Given the description of an element on the screen output the (x, y) to click on. 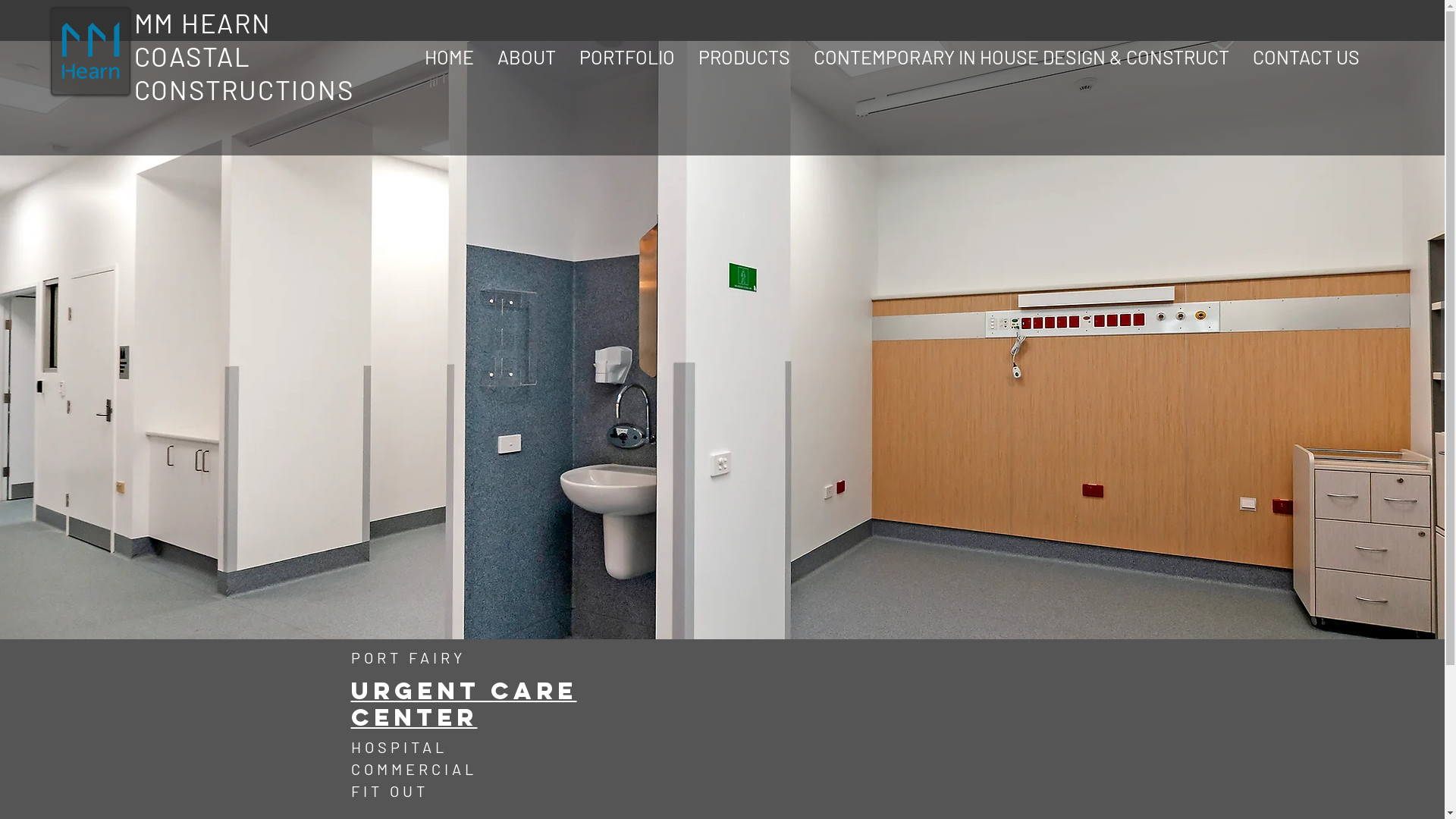
PRODUCTS Element type: text (744, 56)
HOME Element type: text (448, 56)
CONTEMPORARY IN HOUSE DESIGN & CONSTRUCT Element type: text (1021, 56)
MM HEARN
COASTAL
CONSTRUCTIONS Element type: text (243, 55)
CONTACT US Element type: text (1305, 56)
ABOUT Element type: text (526, 56)
PORTFOLIO Element type: text (626, 56)
URGENT CARE CENTER Element type: text (463, 705)
